Given the description of an element on the screen output the (x, y) to click on. 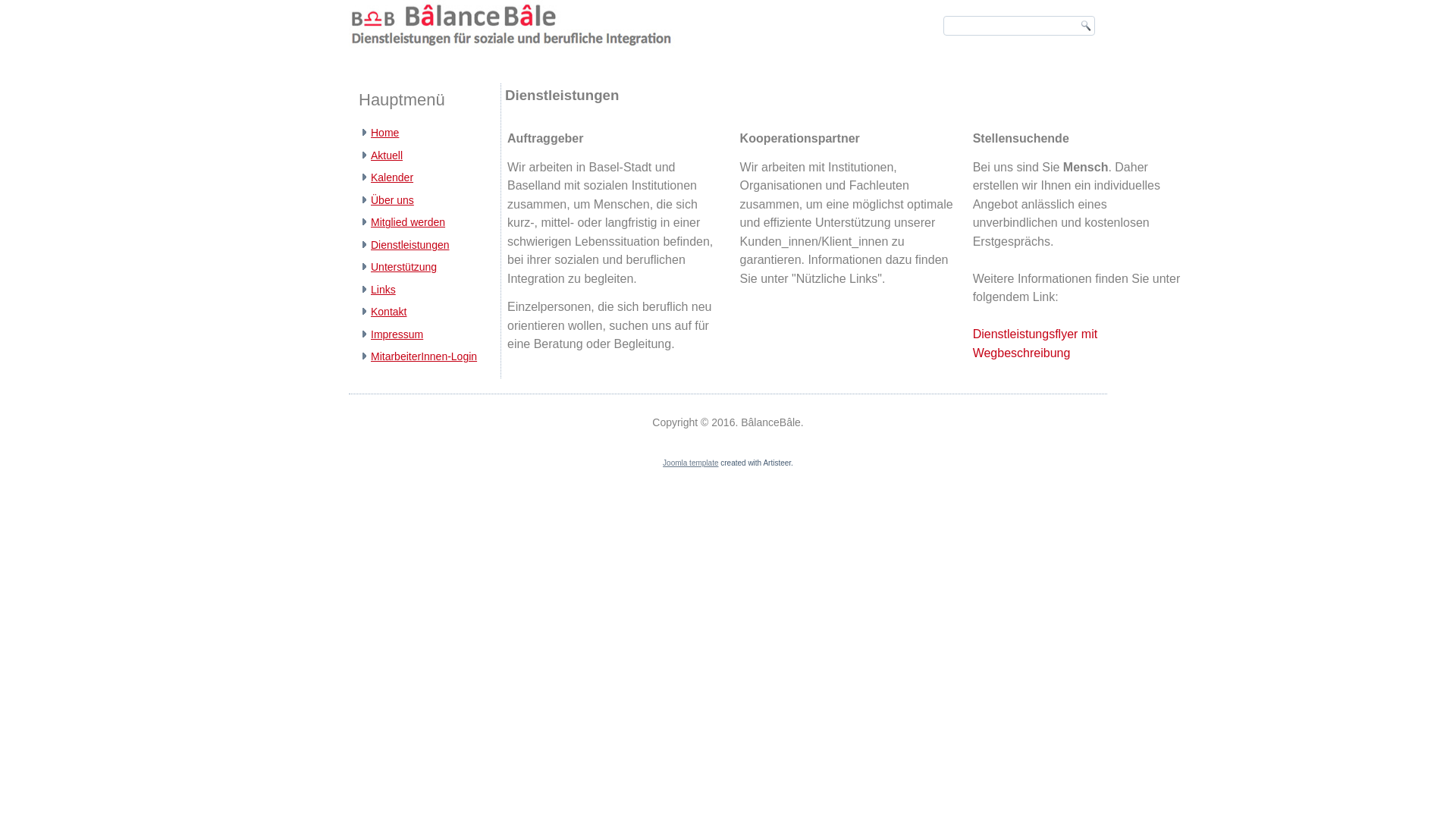
Home Element type: text (384, 132)
Links Element type: text (382, 289)
Aktuell Element type: text (386, 155)
Mitglied werden Element type: text (407, 222)
Dienstleistungsflyer mit Wegbeschreibung Element type: text (1035, 343)
Joomla template Element type: text (690, 462)
Dienstleistungen Element type: text (409, 244)
Impressum Element type: text (396, 334)
MitarbeiterInnen-Login Element type: text (423, 356)
Kalender Element type: text (391, 177)
Kontakt Element type: text (388, 311)
